Given the description of an element on the screen output the (x, y) to click on. 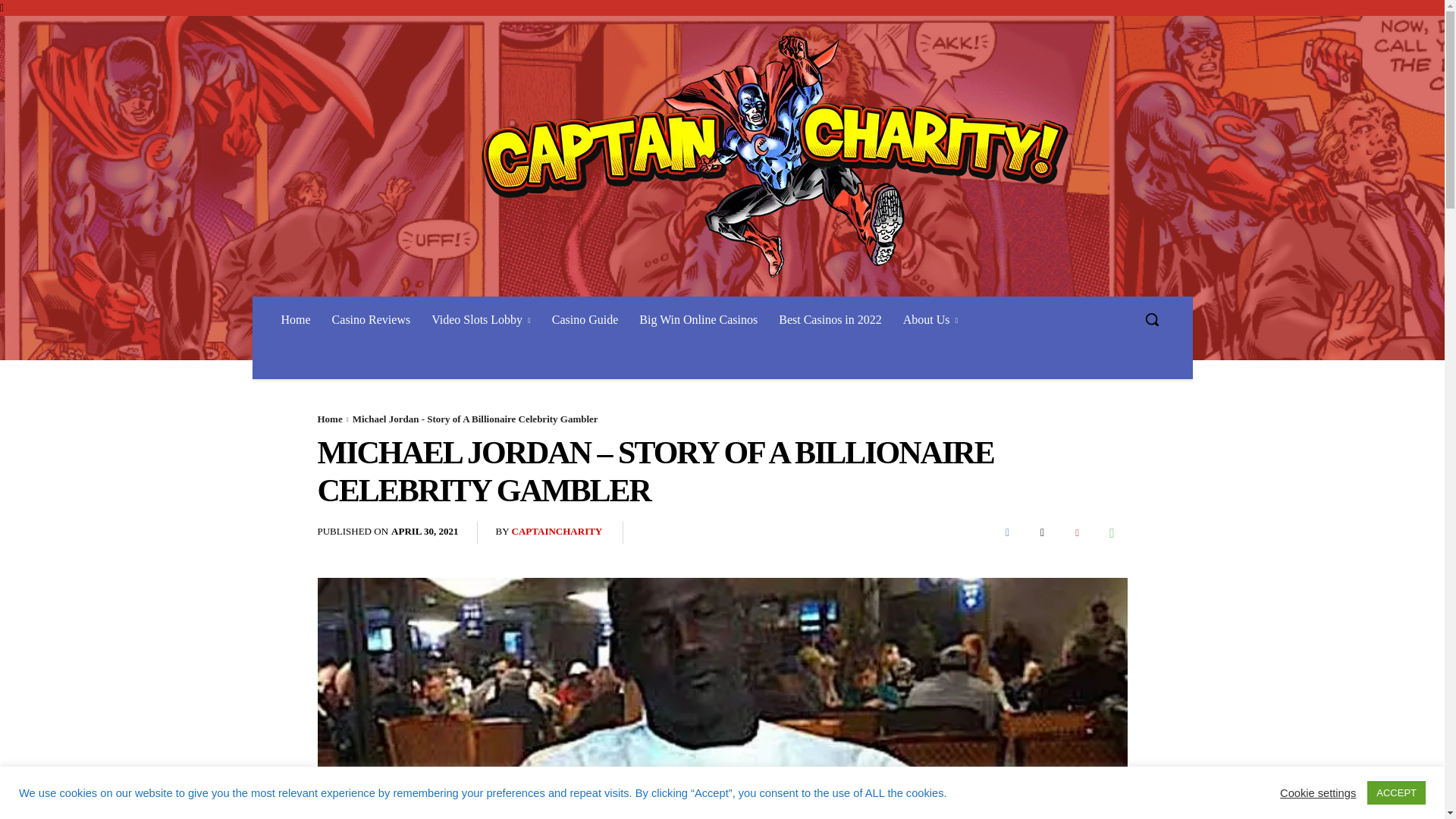
Casino Reviews (371, 319)
Best Casinos in 2022 (830, 319)
Casino Guide (584, 319)
CAPTAINCHARITY (557, 531)
Home (294, 319)
WhatsApp (1111, 532)
Pinterest (1076, 532)
Big Win Online Casinos (698, 319)
Home (329, 419)
Video Slots Lobby (480, 319)
Facebook (1006, 532)
Twitter (1041, 532)
About Us (930, 319)
